Given the description of an element on the screen output the (x, y) to click on. 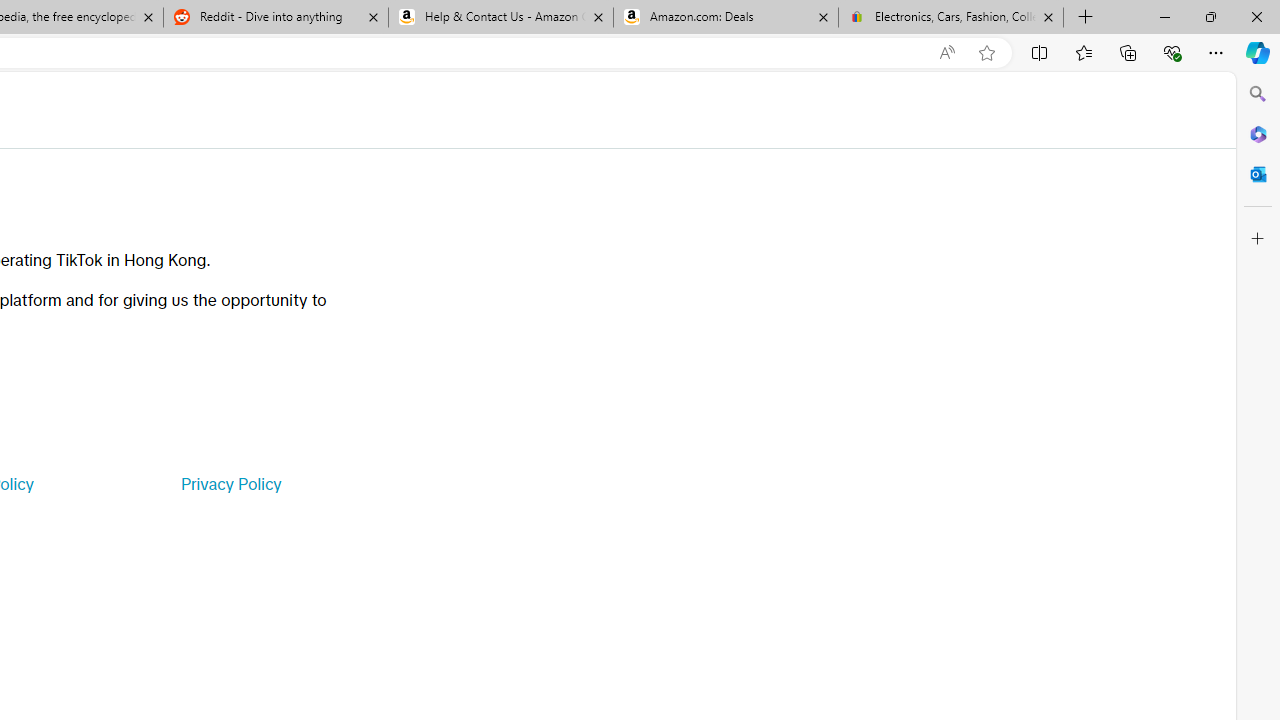
Amazon.com: Deals (726, 17)
Help & Contact Us - Amazon Customer Service (501, 17)
Privacy Policy (230, 484)
Reddit - Dive into anything (275, 17)
Electronics, Cars, Fashion, Collectibles & More | eBay (950, 17)
